Given the description of an element on the screen output the (x, y) to click on. 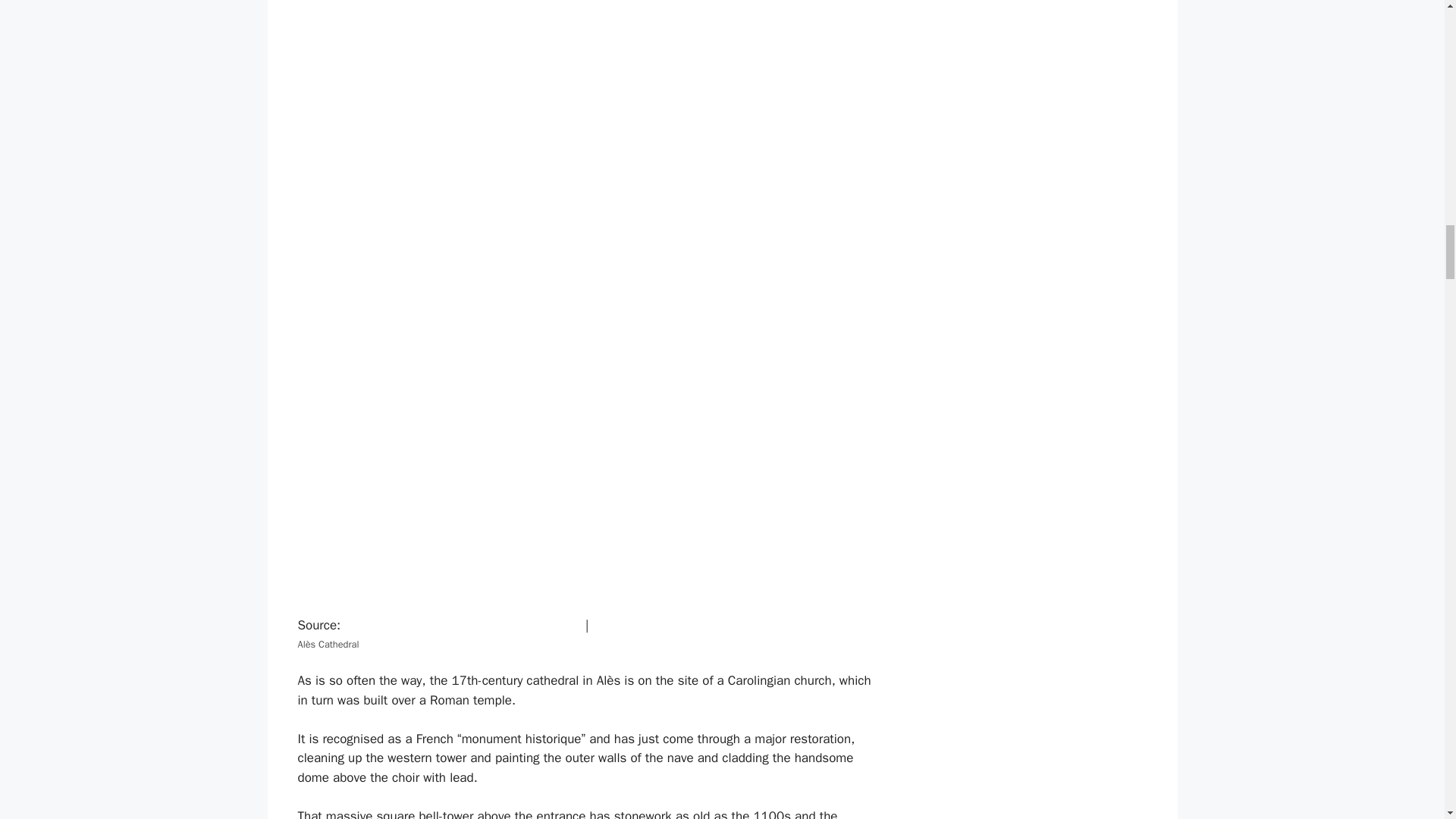
CC BY 3.0 (621, 625)
